Given the description of an element on the screen output the (x, y) to click on. 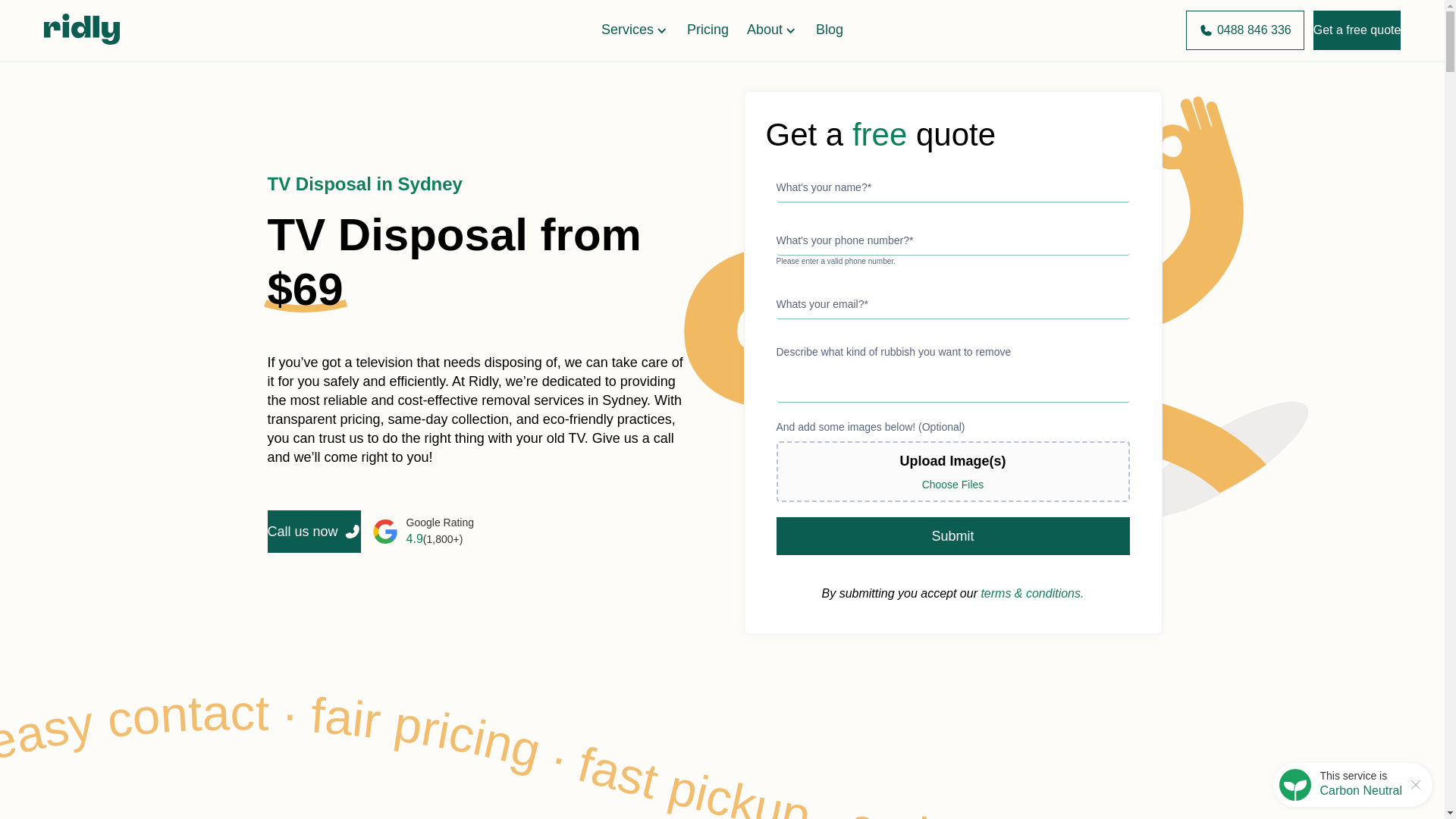
Get a rubbish removal quote (1356, 29)
Get a free quote (1356, 29)
Nav arrow down (661, 30)
Nav arrow down (790, 30)
Ridly Phone icon (1205, 29)
Ridly (81, 41)
0488 846 336 (1244, 29)
0488 846 336 (1245, 29)
Call us on 0488 846 336 (1244, 29)
Ridly (81, 29)
Sydney rubbish removal (1245, 29)
